Given the description of an element on the screen output the (x, y) to click on. 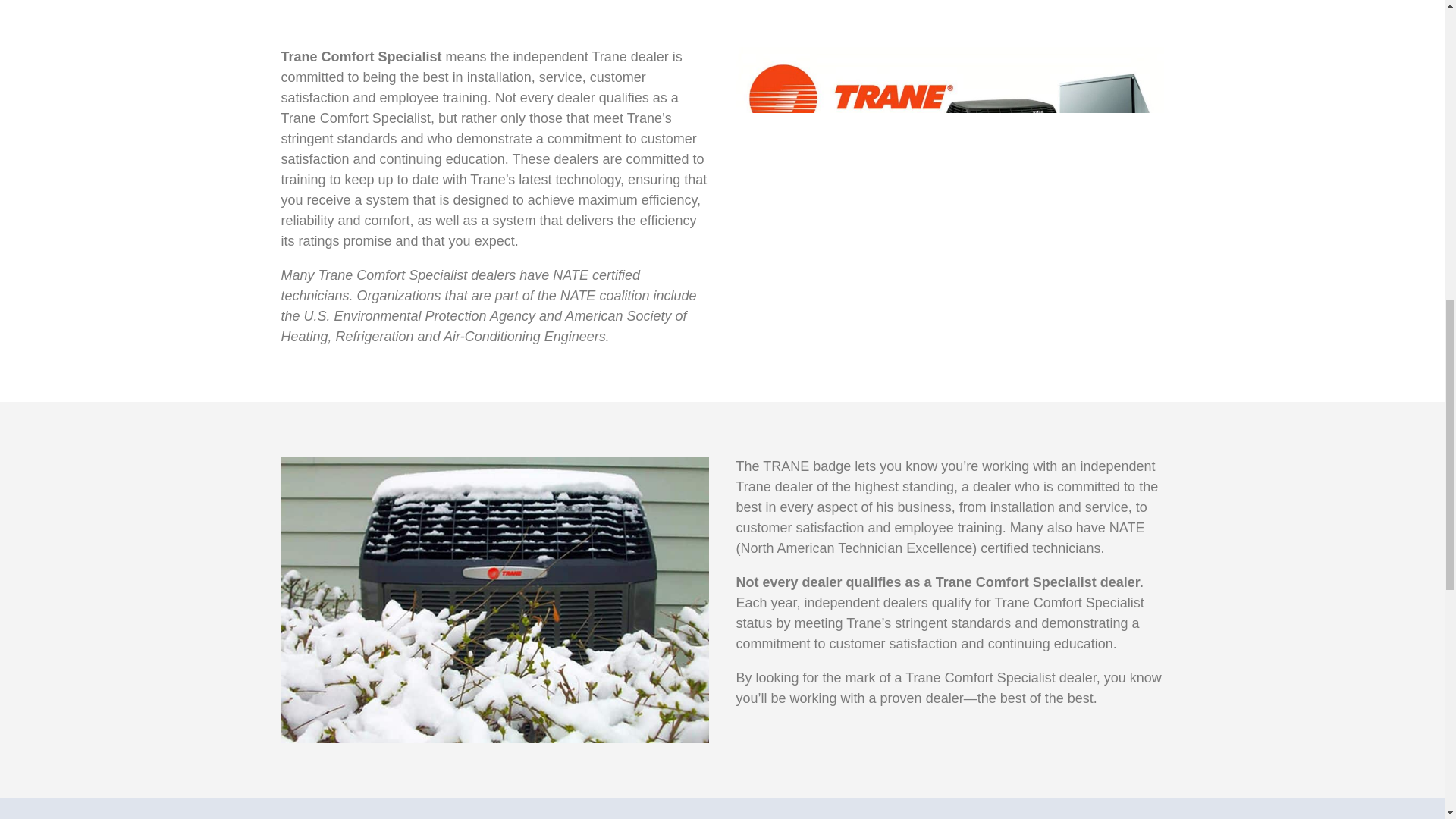
Page 7 (949, 582)
Page 7 (494, 196)
